Given the description of an element on the screen output the (x, y) to click on. 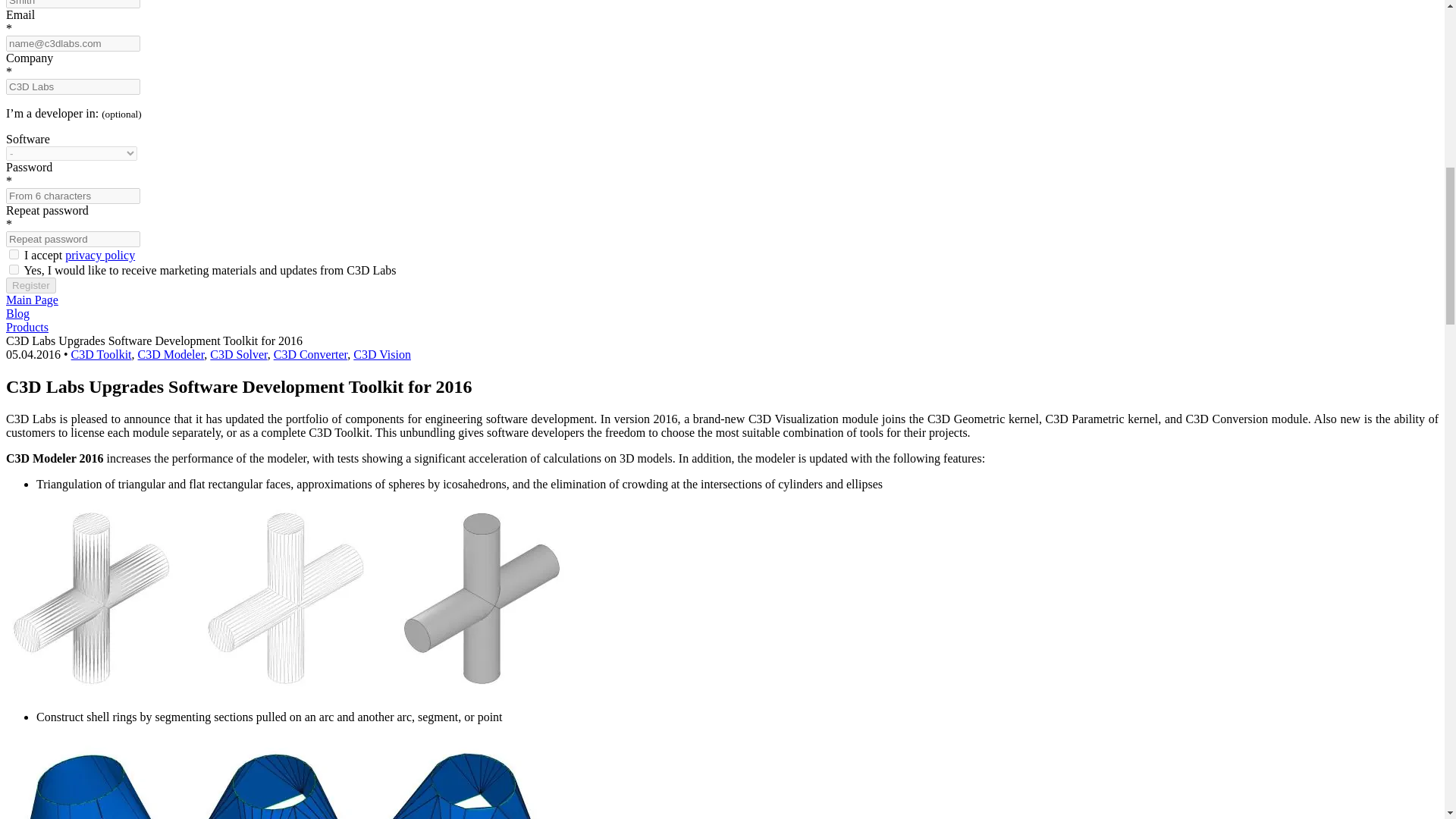
Blog (17, 313)
en (13, 269)
Products (26, 327)
Register (30, 285)
Main Page (31, 299)
on (13, 254)
privacy policy (100, 254)
